Given the description of an element on the screen output the (x, y) to click on. 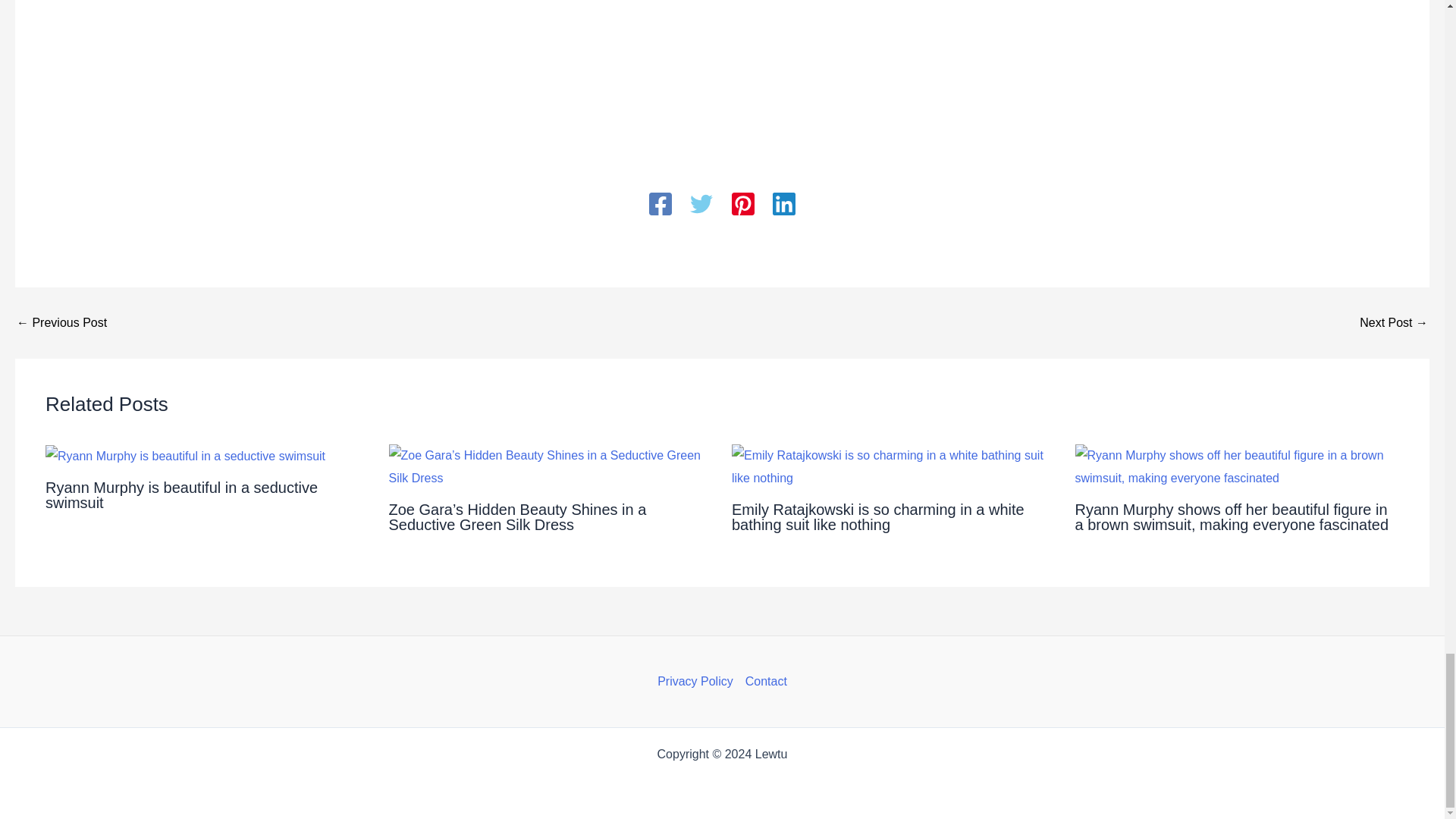
Ryann Murphy is beautiful in a seductive swimsuit (181, 495)
Contact (763, 681)
Privacy Policy (698, 681)
